Given the description of an element on the screen output the (x, y) to click on. 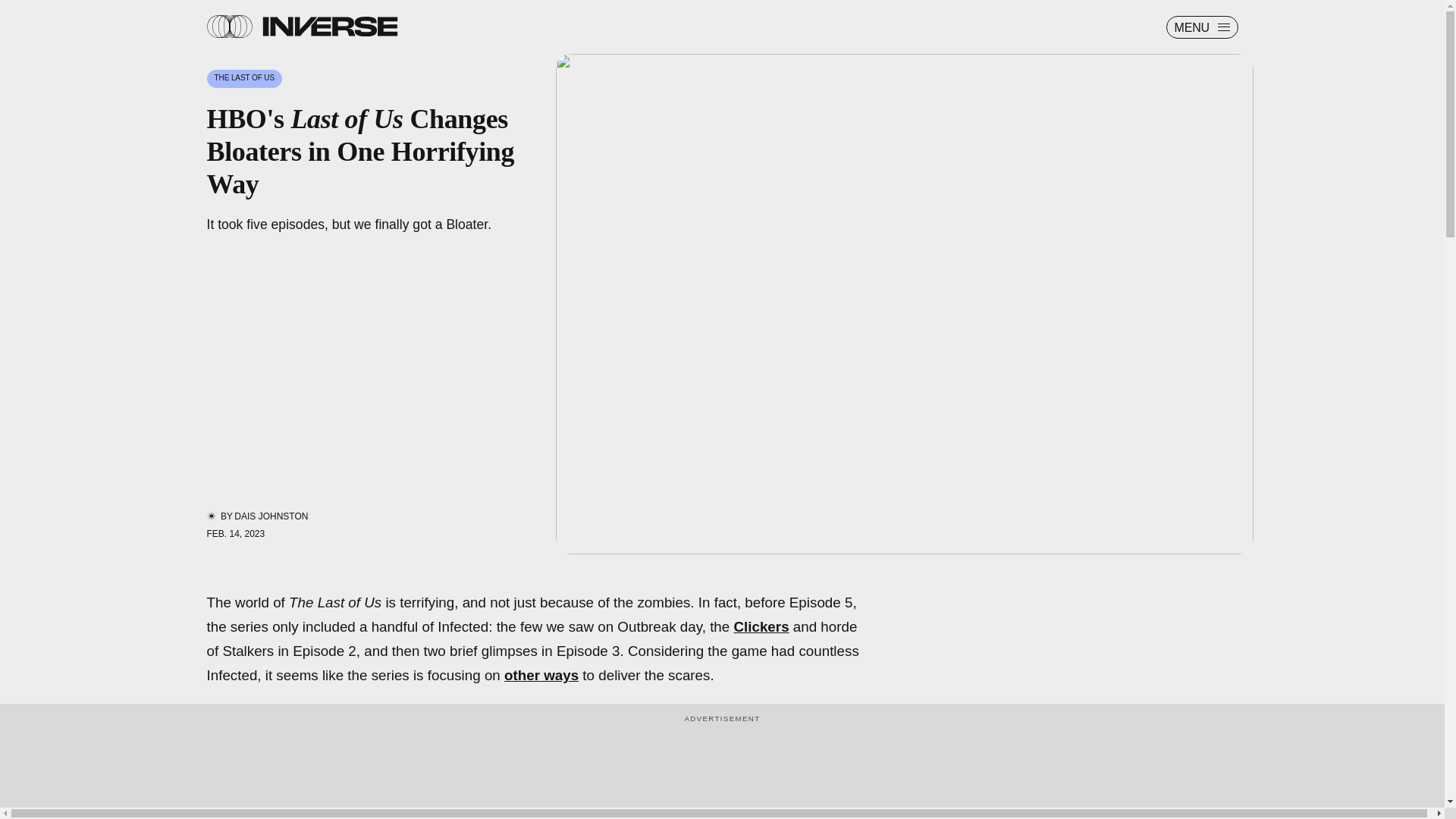
Inverse (328, 26)
Clickers (761, 626)
other ways (540, 675)
DAIS JOHNSTON (270, 515)
